Given the description of an element on the screen output the (x, y) to click on. 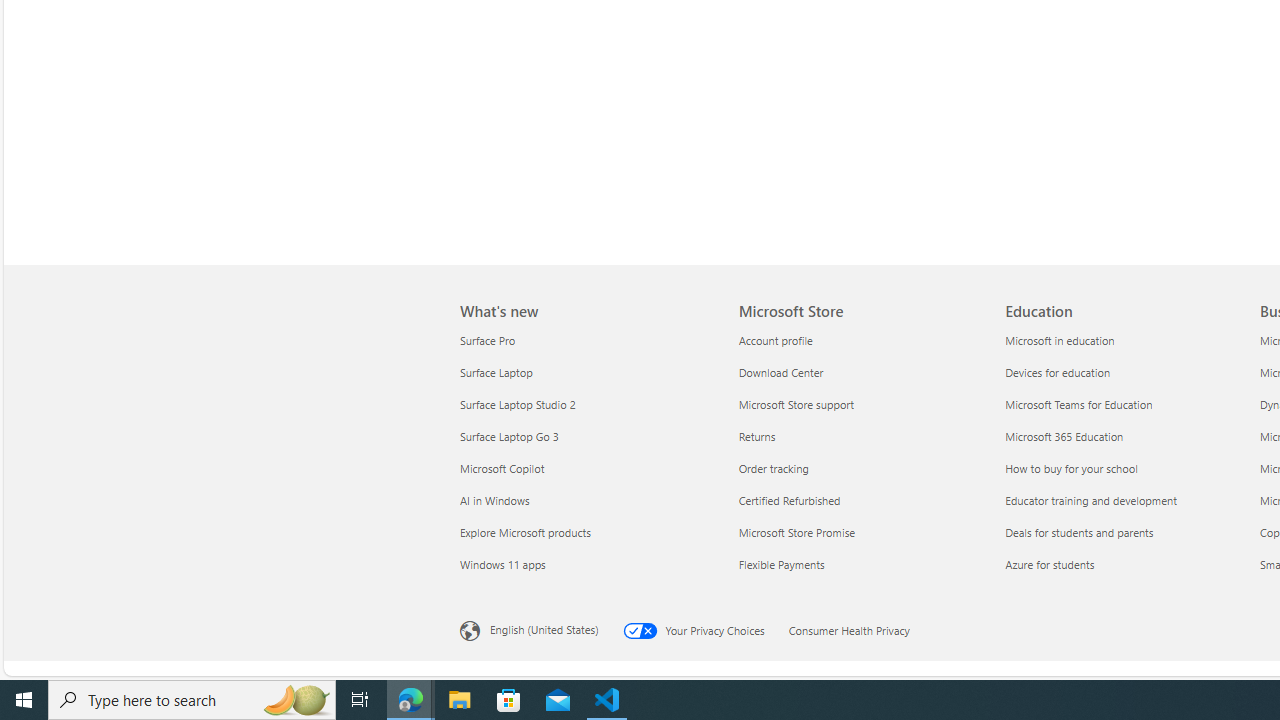
Account profile (859, 340)
Surface Pro What's new (487, 339)
Account profile Microsoft Store (775, 339)
Microsoft 365 Education (1126, 435)
Flexible Payments (859, 564)
How to buy for your school Education (1070, 467)
Microsoft Store support Microsoft Store (795, 403)
